Given the description of an element on the screen output the (x, y) to click on. 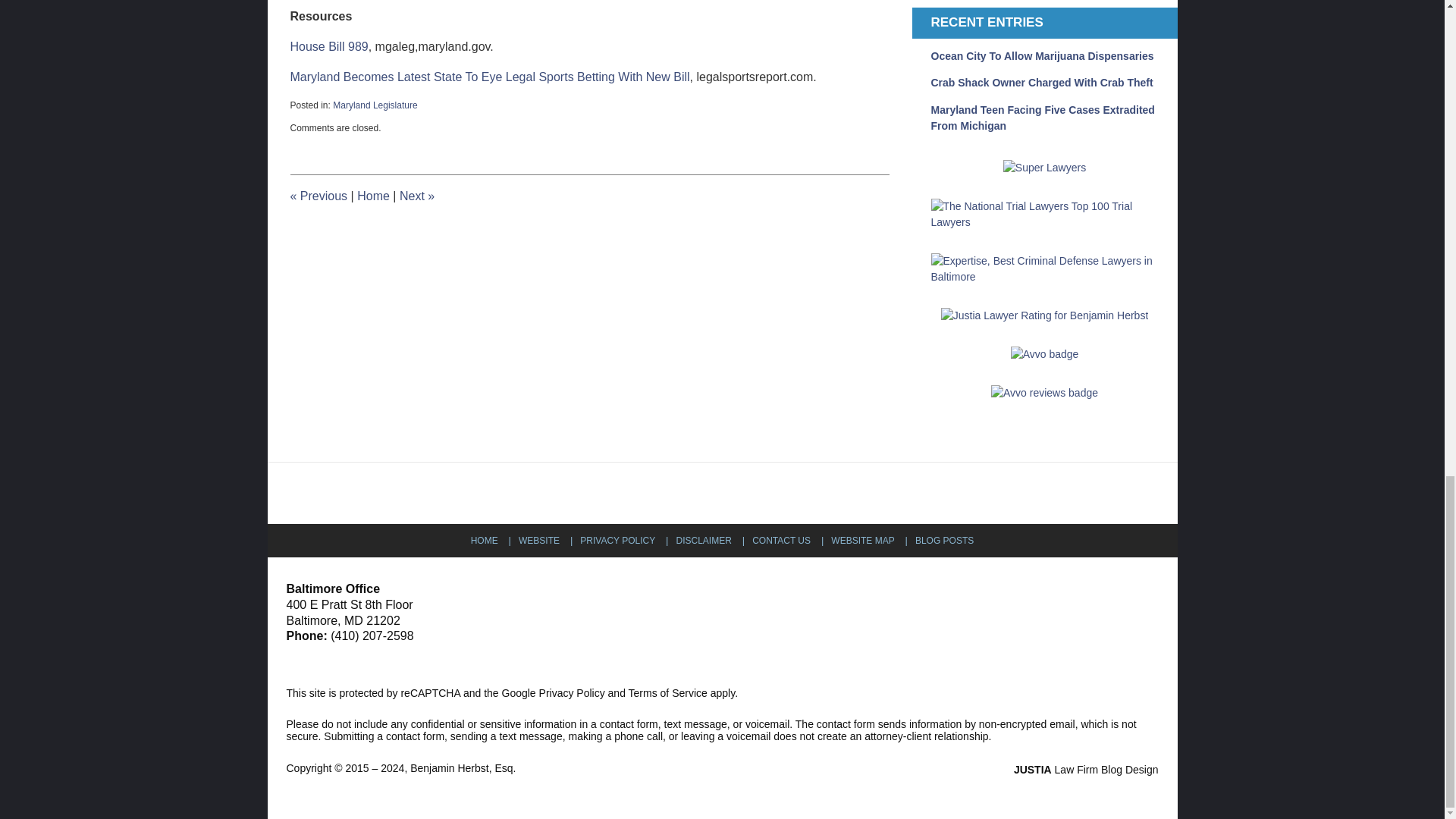
View all posts in Maryland Legislature (374, 104)
Lawmakers Targeting Drug Overdoses (318, 195)
Home (373, 195)
Maryland Legislature (374, 104)
Former Small Town Mayor Pleads Guilty To Theft (415, 195)
House Bill 989 (328, 46)
